Given the description of an element on the screen output the (x, y) to click on. 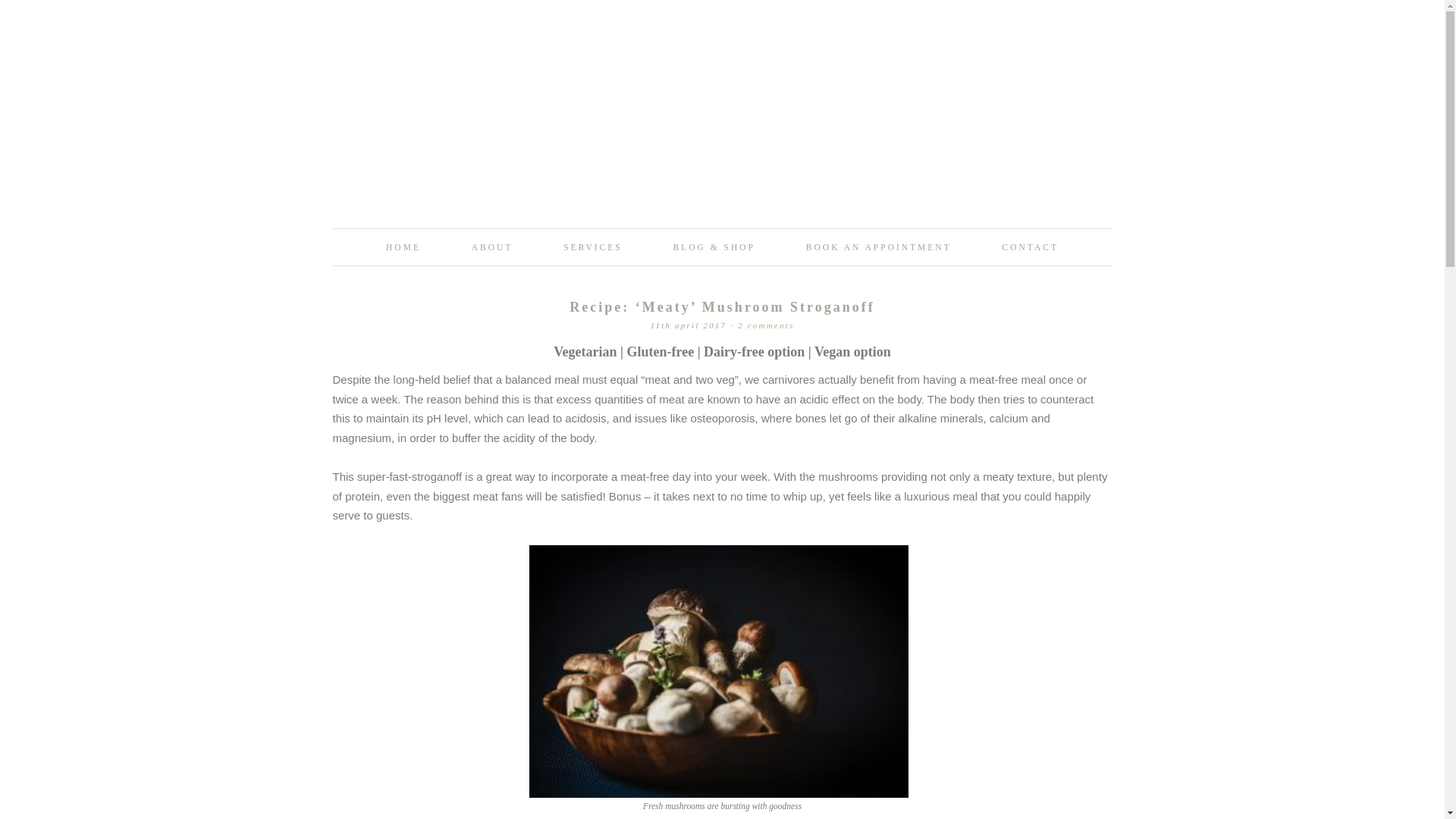
CONTACT (1030, 247)
THE REAL NUTRITIONIST (721, 159)
BOOK AN APPOINTMENT (878, 247)
SERVICES (592, 247)
ABOUT (491, 247)
mushroom recipe (718, 670)
HOME (403, 247)
2 comments (765, 325)
